Given the description of an element on the screen output the (x, y) to click on. 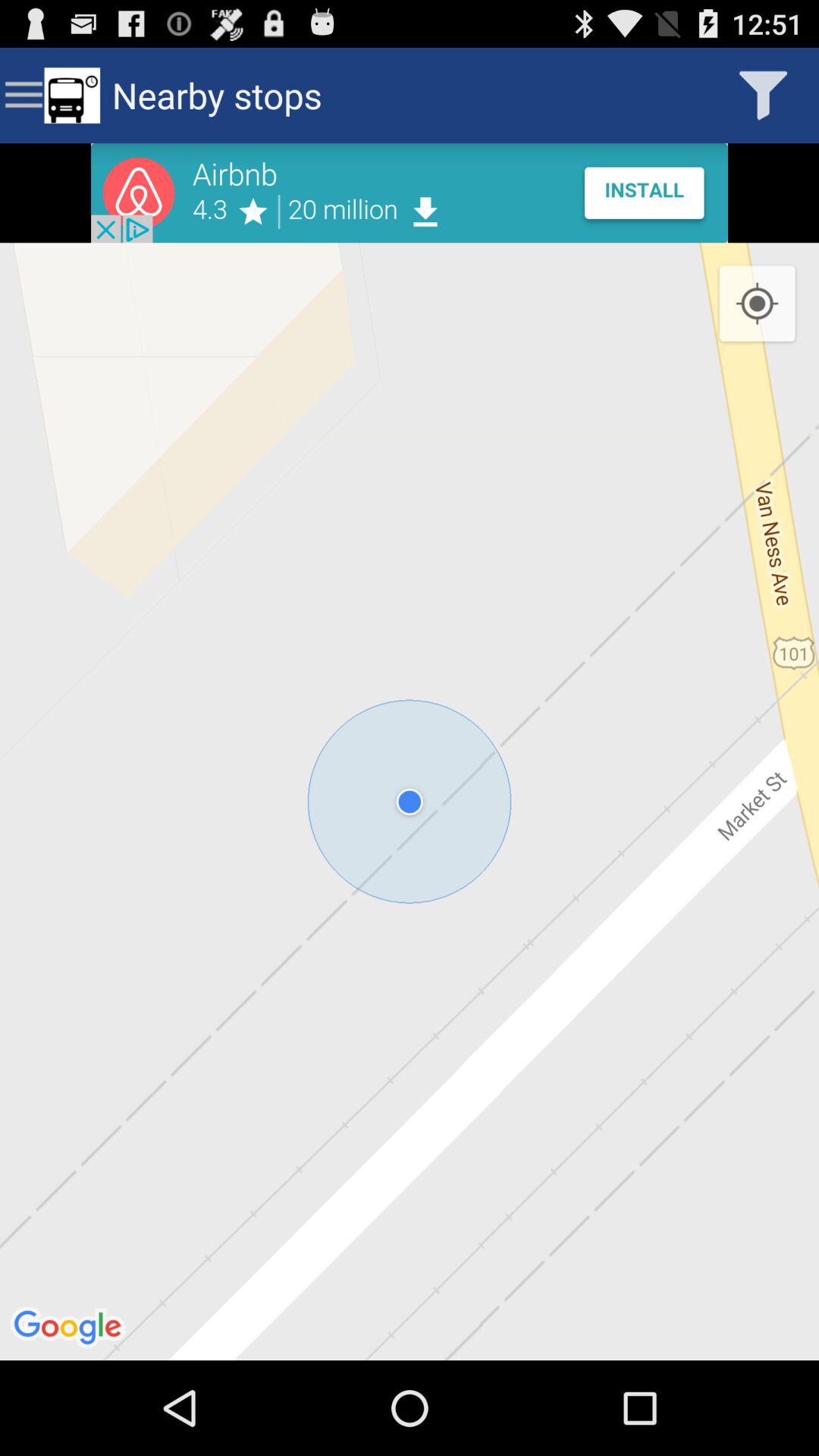
advertisemwnt (409, 192)
